Given the description of an element on the screen output the (x, y) to click on. 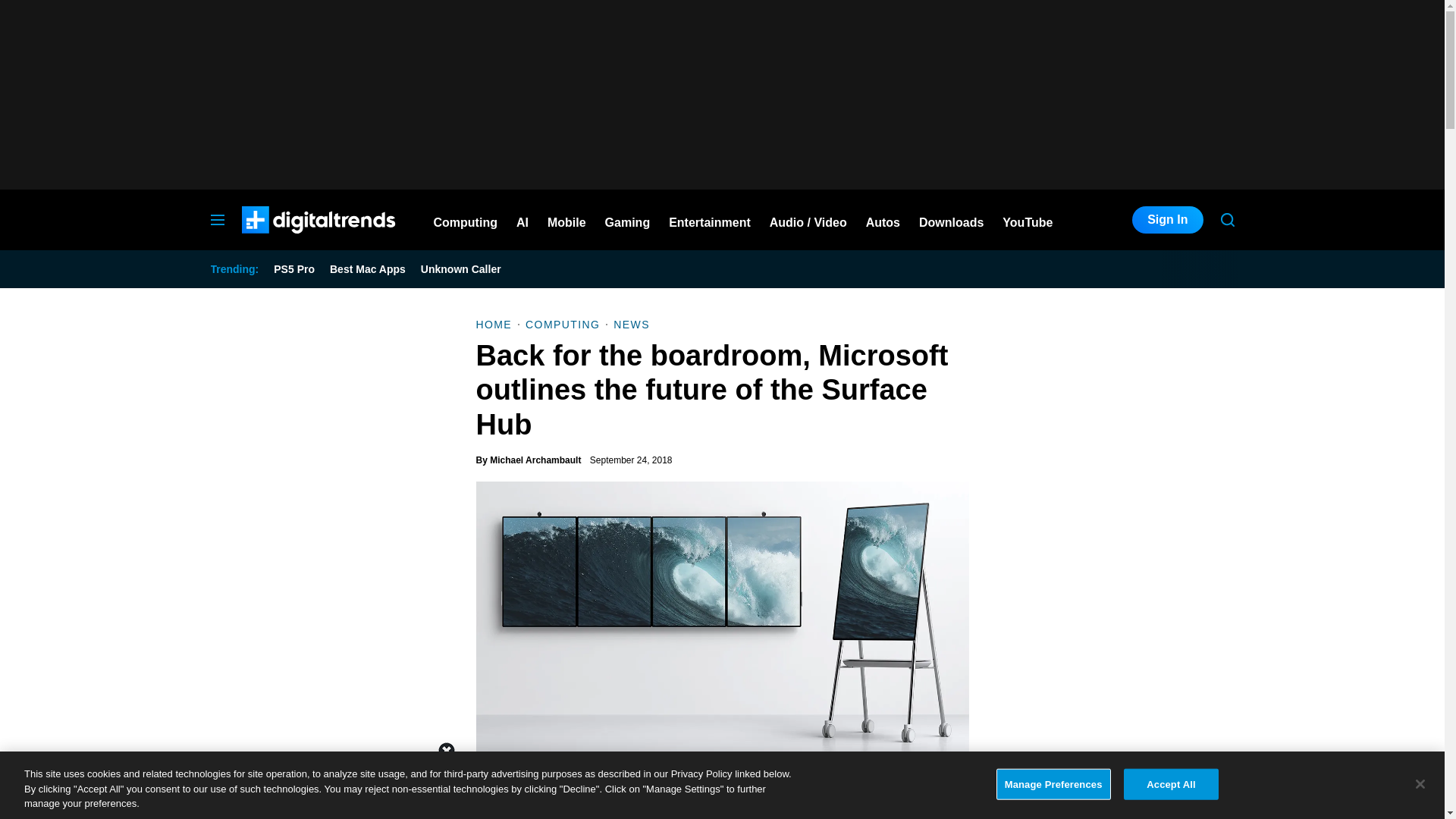
Entertainment (709, 219)
3rd party ad content (721, 785)
Downloads (951, 219)
Computing (465, 219)
Sign In (1167, 219)
